Given the description of an element on the screen output the (x, y) to click on. 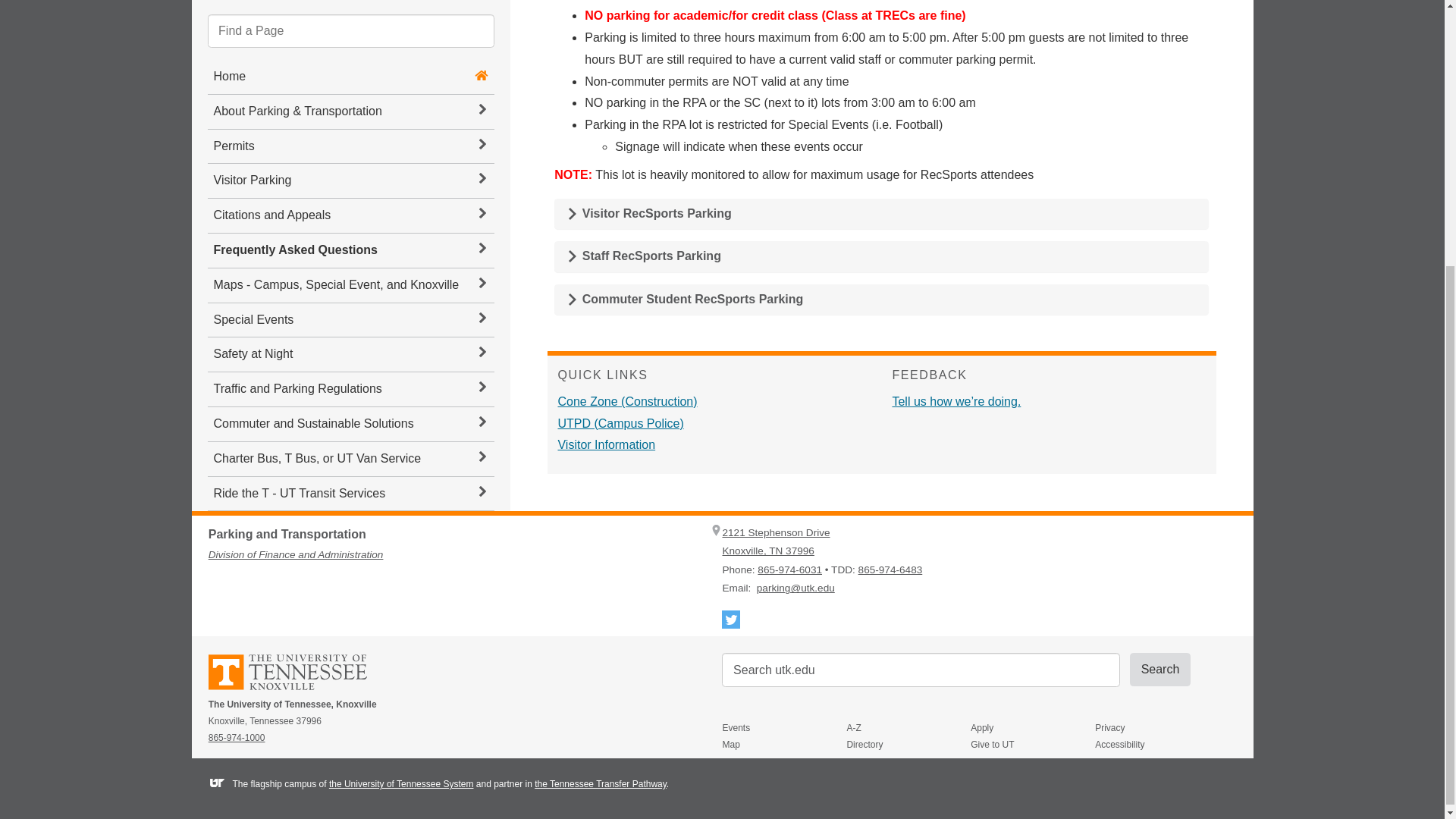
Submit (1160, 669)
Search (1160, 669)
Search utk.edu (920, 669)
search (920, 669)
